Given the description of an element on the screen output the (x, y) to click on. 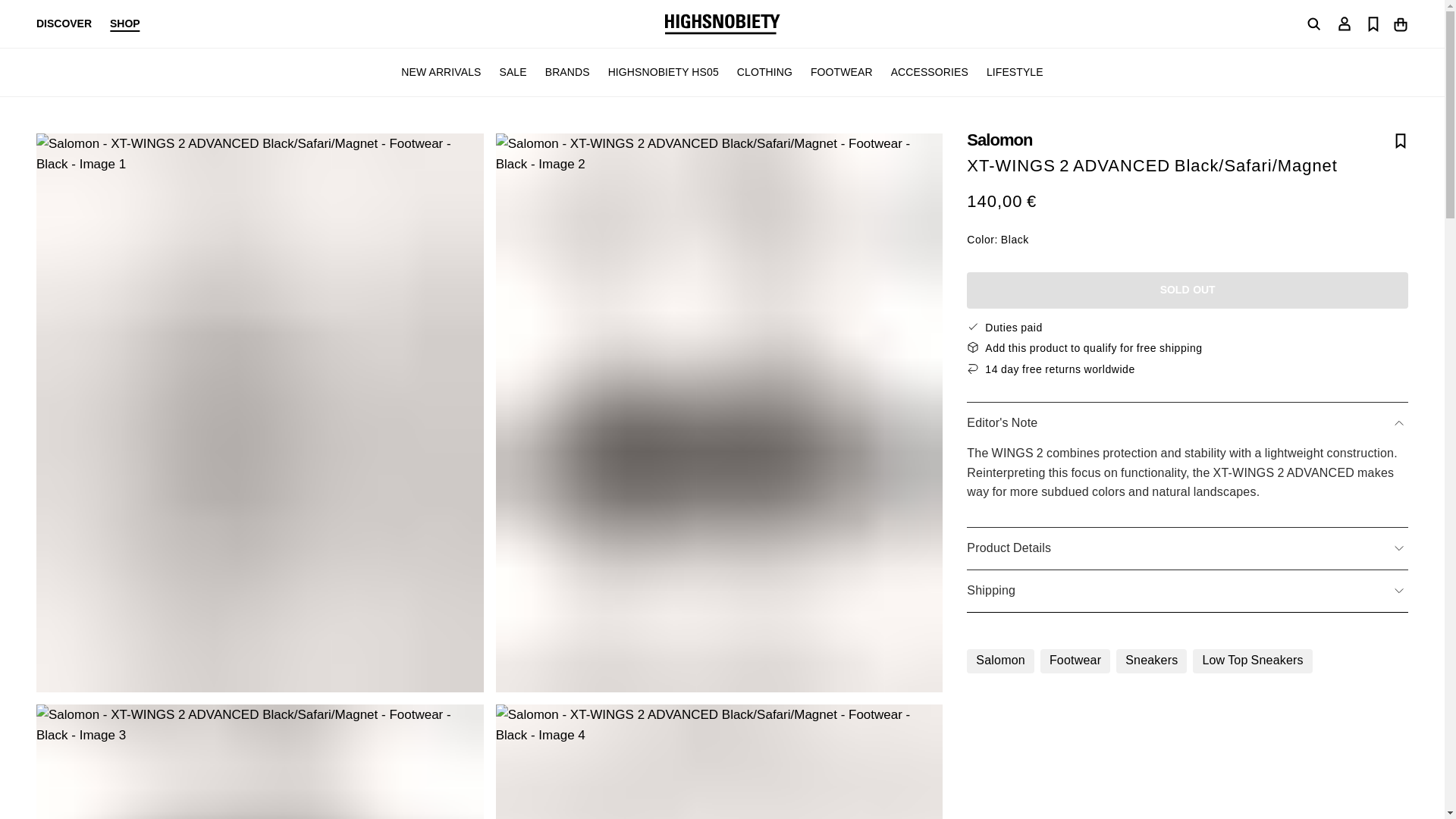
Highsnobiety (720, 24)
Go To Account (1344, 23)
Go To Saved (1372, 23)
Go To Search (1314, 23)
Go To Shopping Cart (1400, 23)
